Given the description of an element on the screen output the (x, y) to click on. 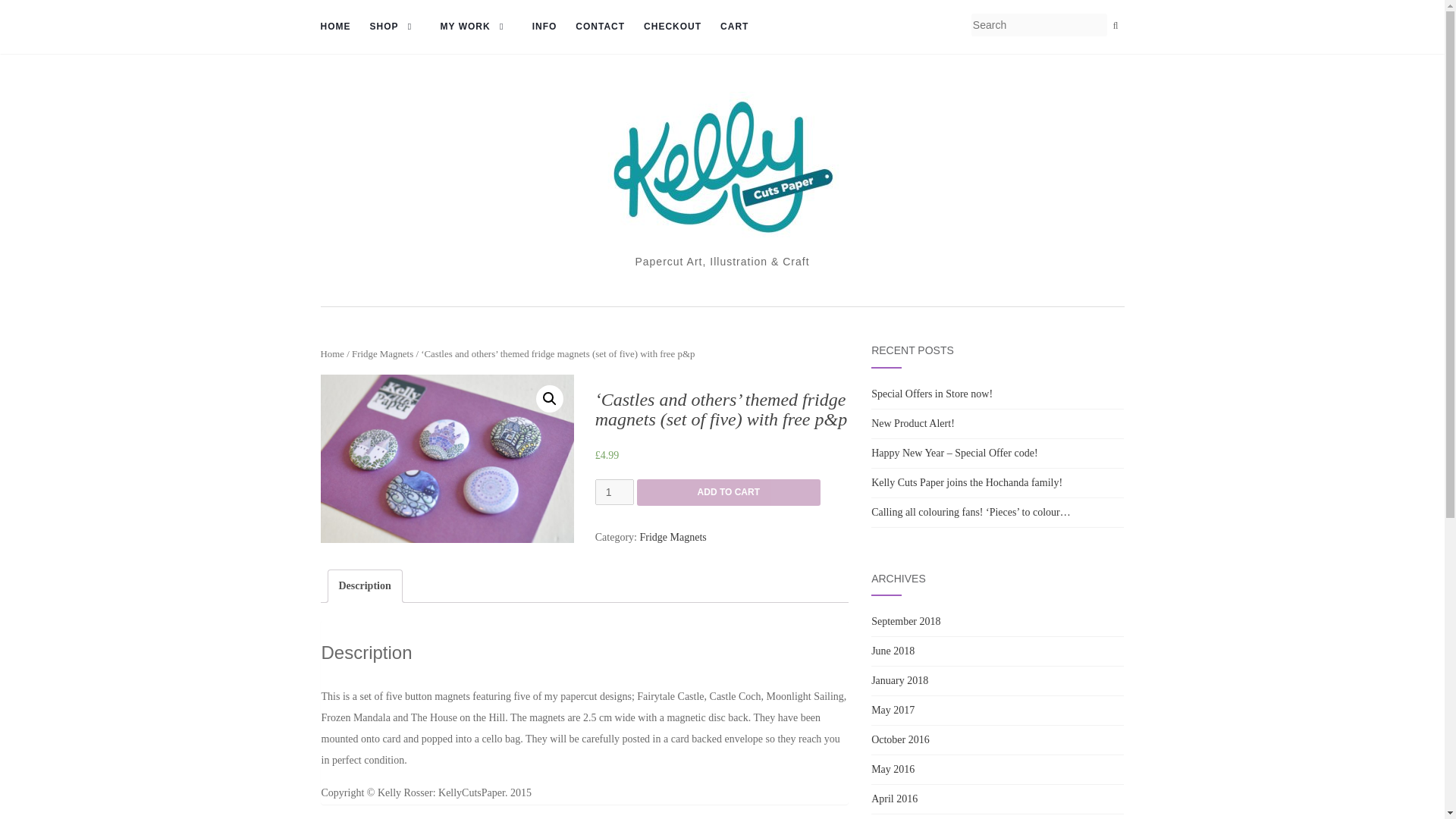
1 (614, 492)
Shop (395, 27)
SHOP (395, 27)
MY WORK (477, 27)
Home (331, 353)
Fridge Magnets (382, 353)
CHECKOUT (672, 27)
CONTACT (599, 27)
